Given the description of an element on the screen output the (x, y) to click on. 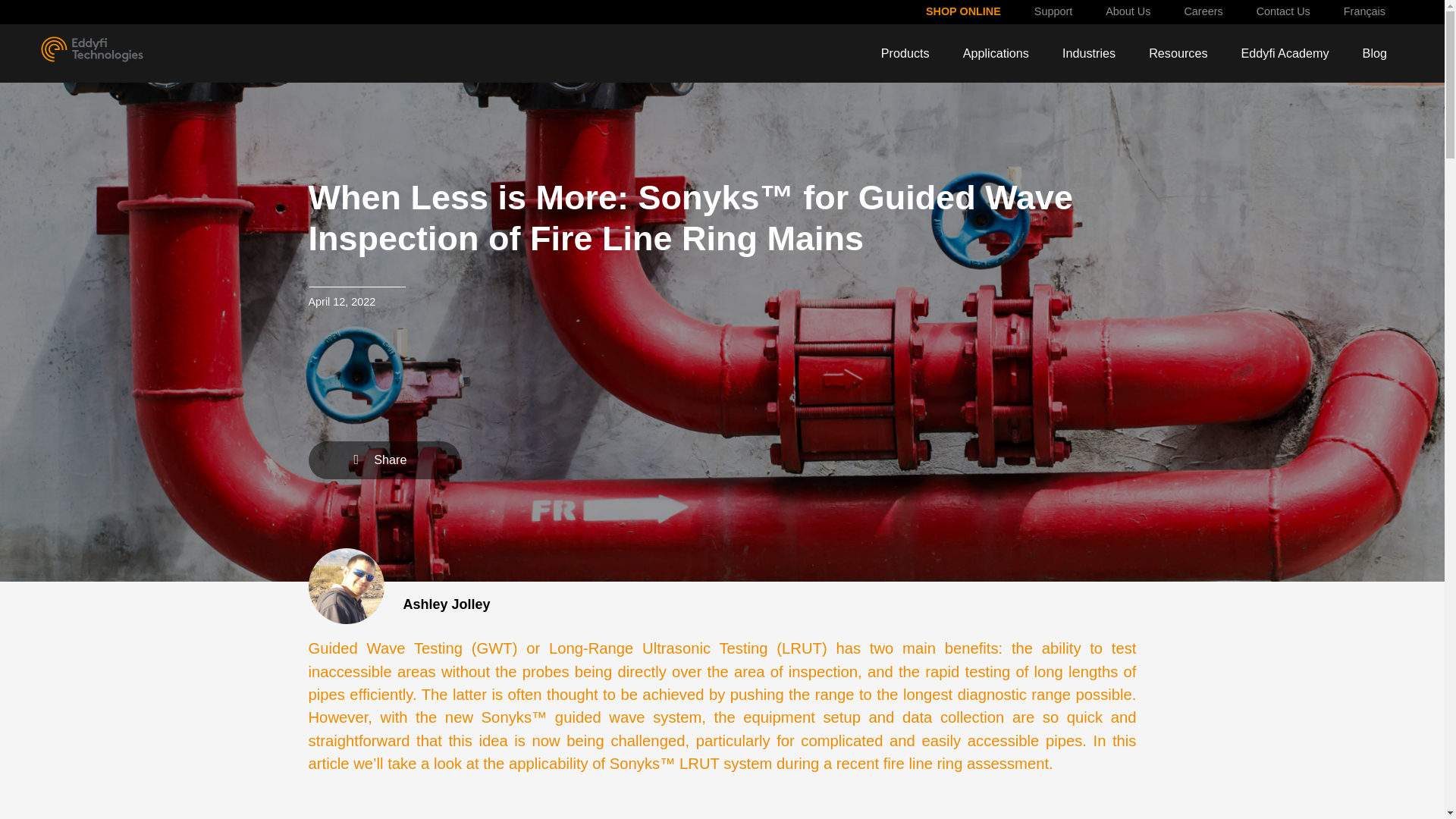
SHOP ONLINE (962, 12)
Careers (1203, 12)
Support (1053, 12)
Products (905, 53)
About Us (1128, 12)
Contact Us (1283, 12)
